Given the description of an element on the screen output the (x, y) to click on. 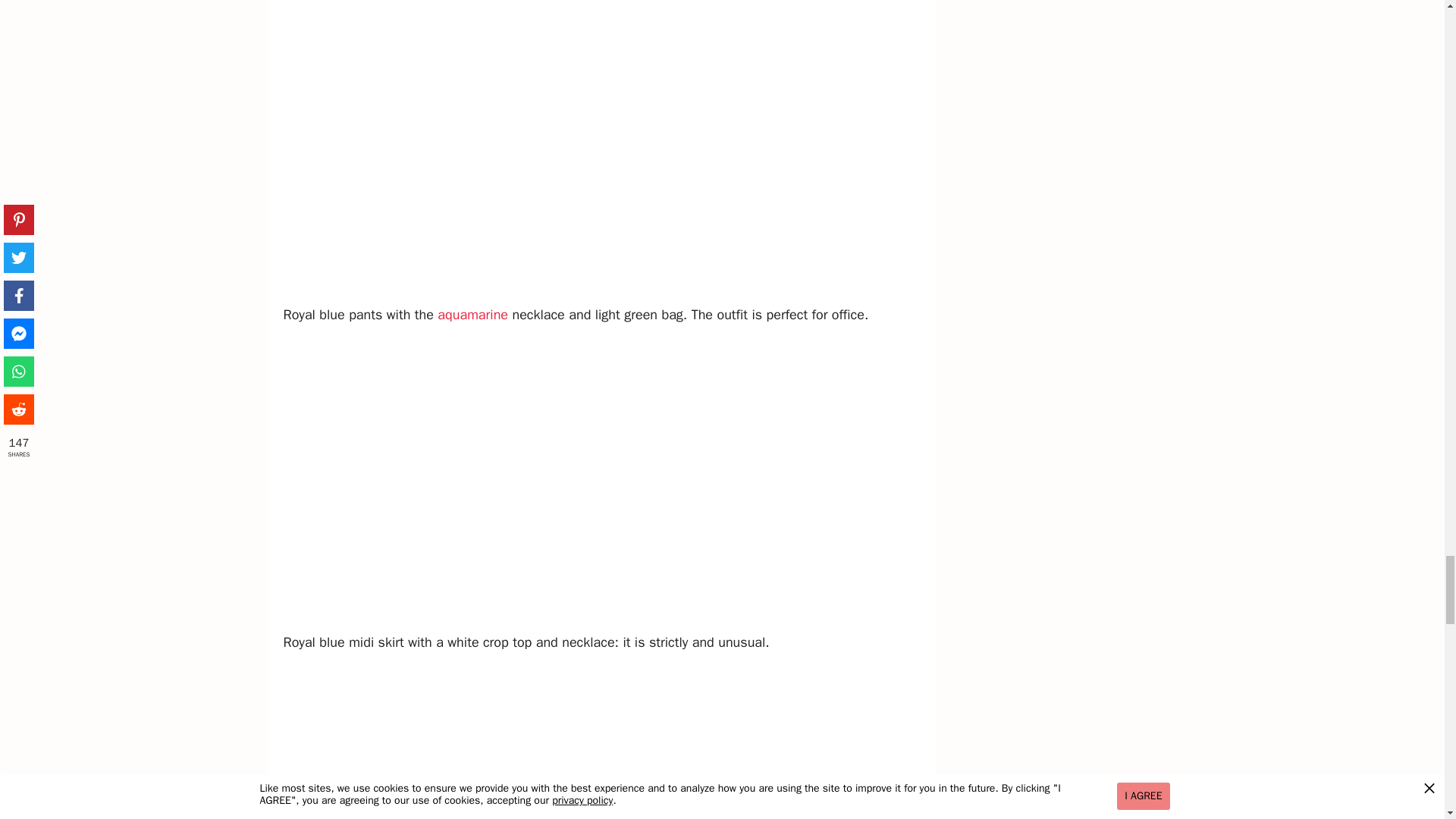
what color goes with royal blue midi skirt photo (605, 743)
aquamarine (473, 314)
colors that go with royal blue mini dress photo (604, 151)
